Given the description of an element on the screen output the (x, y) to click on. 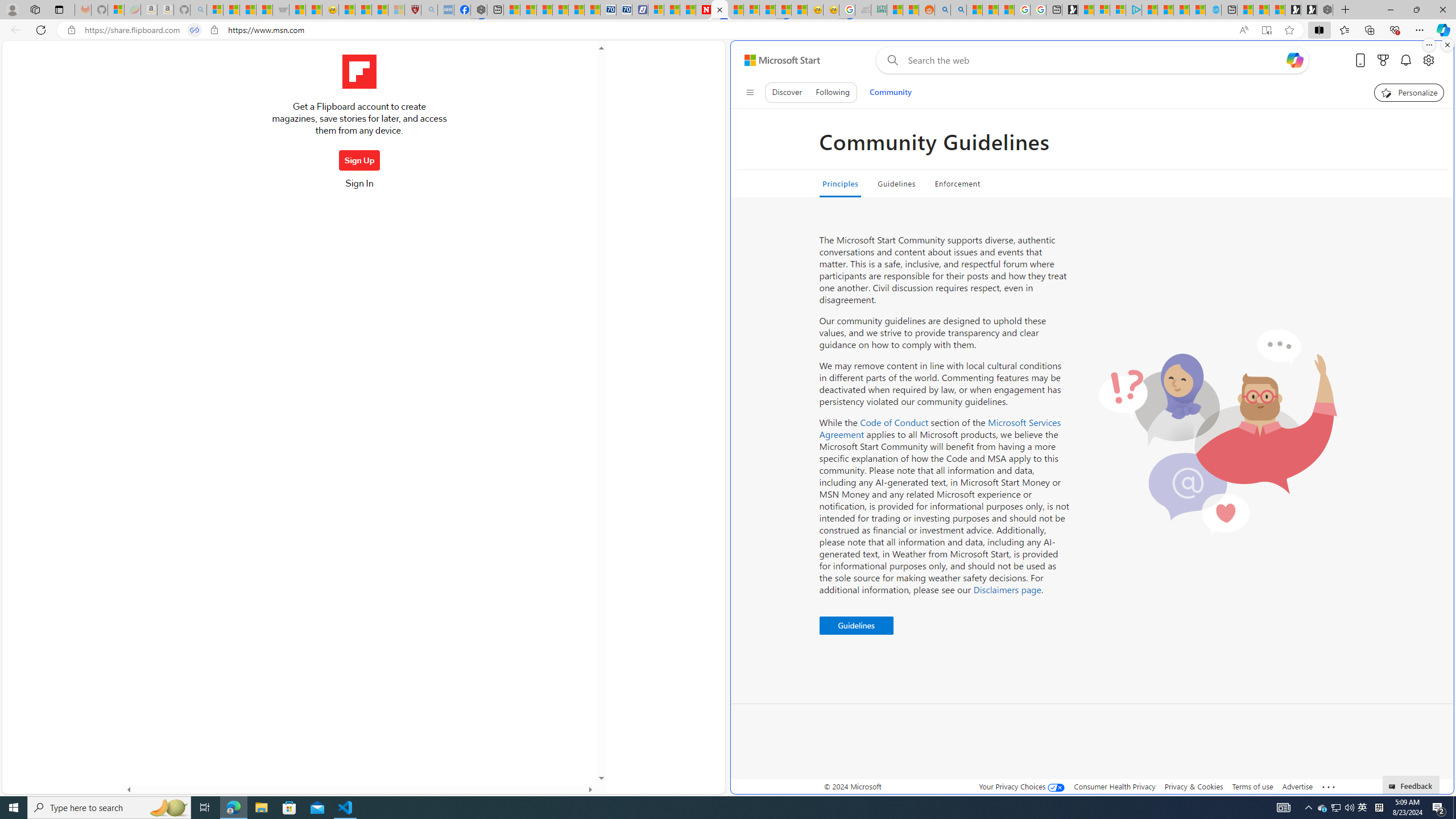
Class: feedback_link_icon-DS-EntryPoint1-1 (1393, 786)
Enter Immersive Reader (F9) (1266, 29)
Close split screen. (1447, 45)
Class: oneFooter_seeMore-DS-EntryPoint1-1 (1328, 786)
Guidelines  (855, 625)
Personalize your feed" (1409, 92)
